Given the description of an element on the screen output the (x, y) to click on. 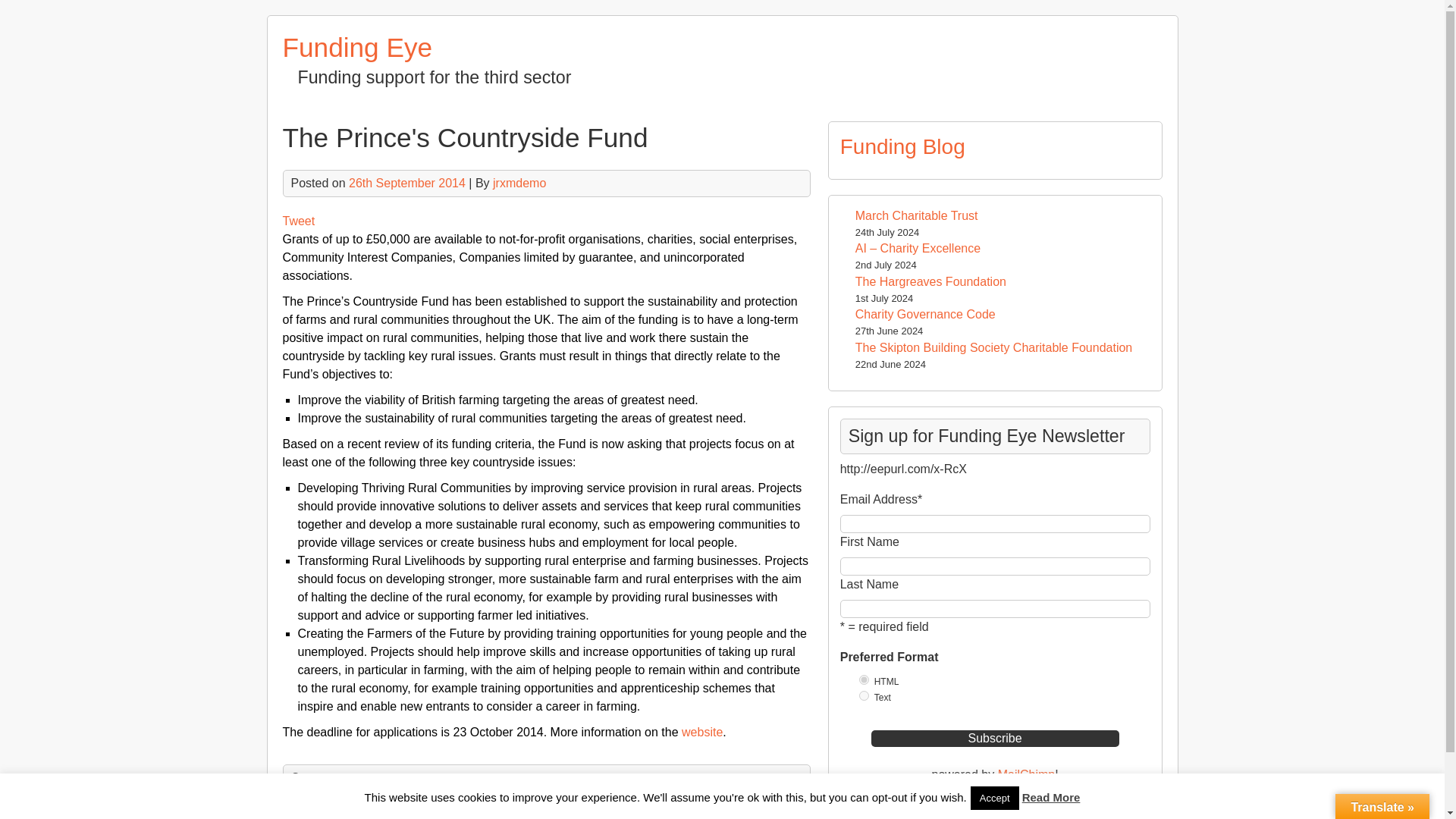
grant (360, 777)
website (701, 731)
March Charitable Trust (917, 215)
Funding Blog (902, 146)
Charity Governance Code (925, 314)
26th September 2014 (407, 182)
text (864, 696)
Funding Eye (357, 47)
Subscribe (994, 738)
The Skipton Building Society Charitable Foundation (994, 347)
MailChimp (1026, 774)
Read More (1051, 797)
Accept (995, 797)
Funding Eye (357, 47)
Tweet (298, 220)
